Given the description of an element on the screen output the (x, y) to click on. 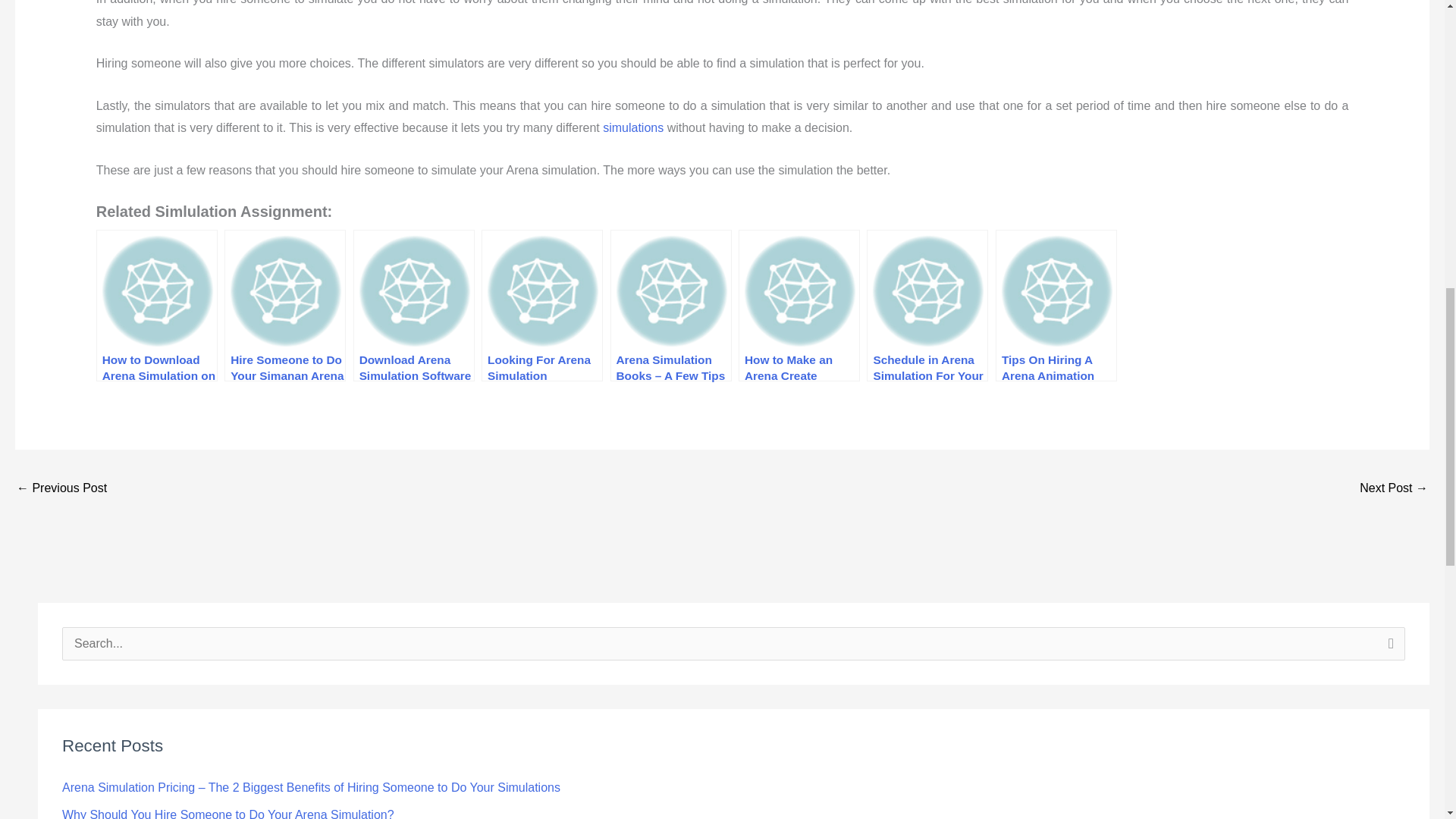
Simple Arena Simulation Examples For You (61, 489)
Why Should You Hire Someone to Do Your Arena Simulation? (228, 813)
simulations (632, 127)
